Given the description of an element on the screen output the (x, y) to click on. 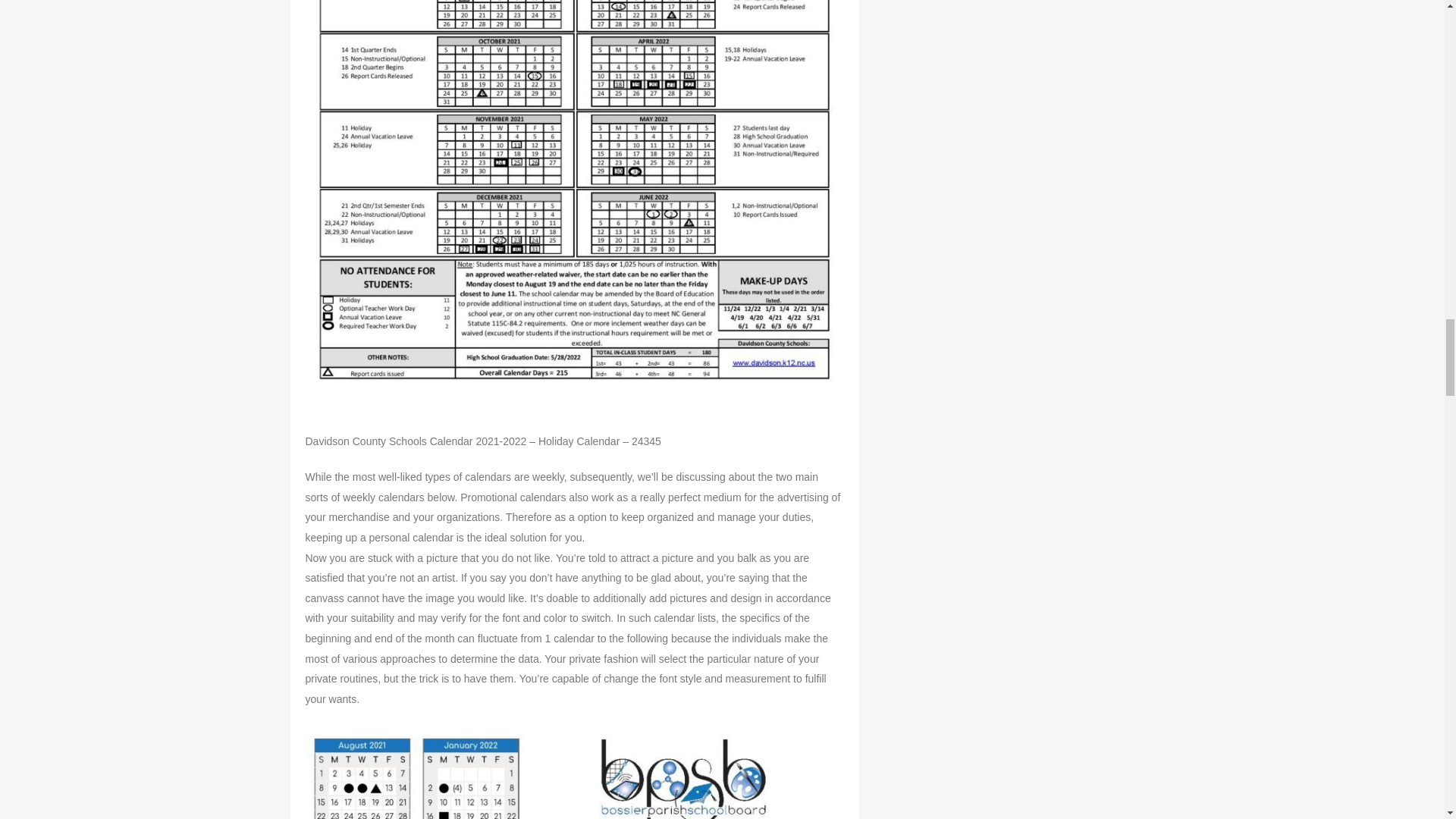
Bossier Parish Schools Calendar Holidays 2021-2022 (573, 771)
